Given the description of an element on the screen output the (x, y) to click on. 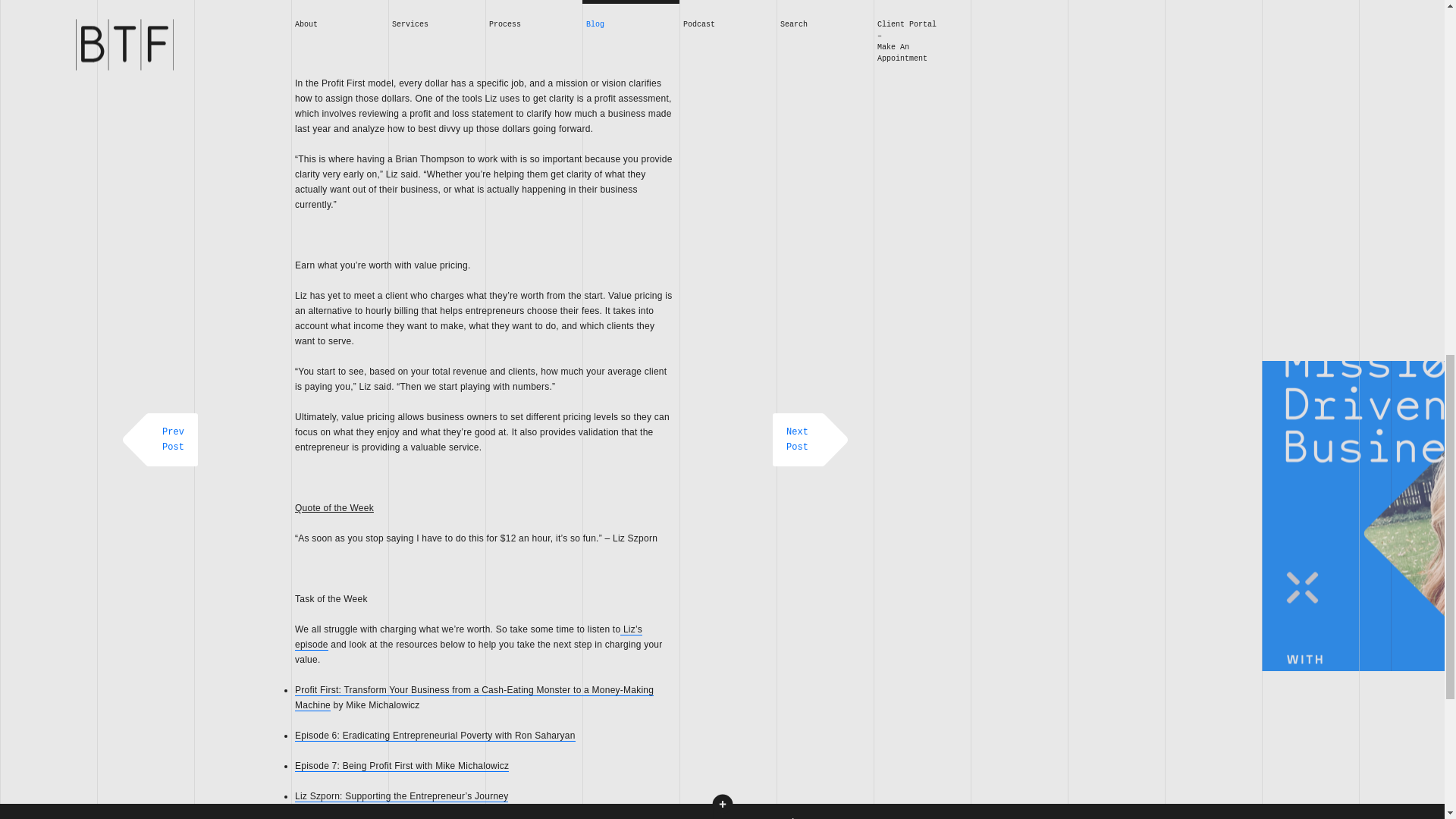
Episode 7: Being Profit First with Mike Michalowicz (401, 766)
Facebook (978, 32)
Twitter (1008, 32)
